Given the description of an element on the screen output the (x, y) to click on. 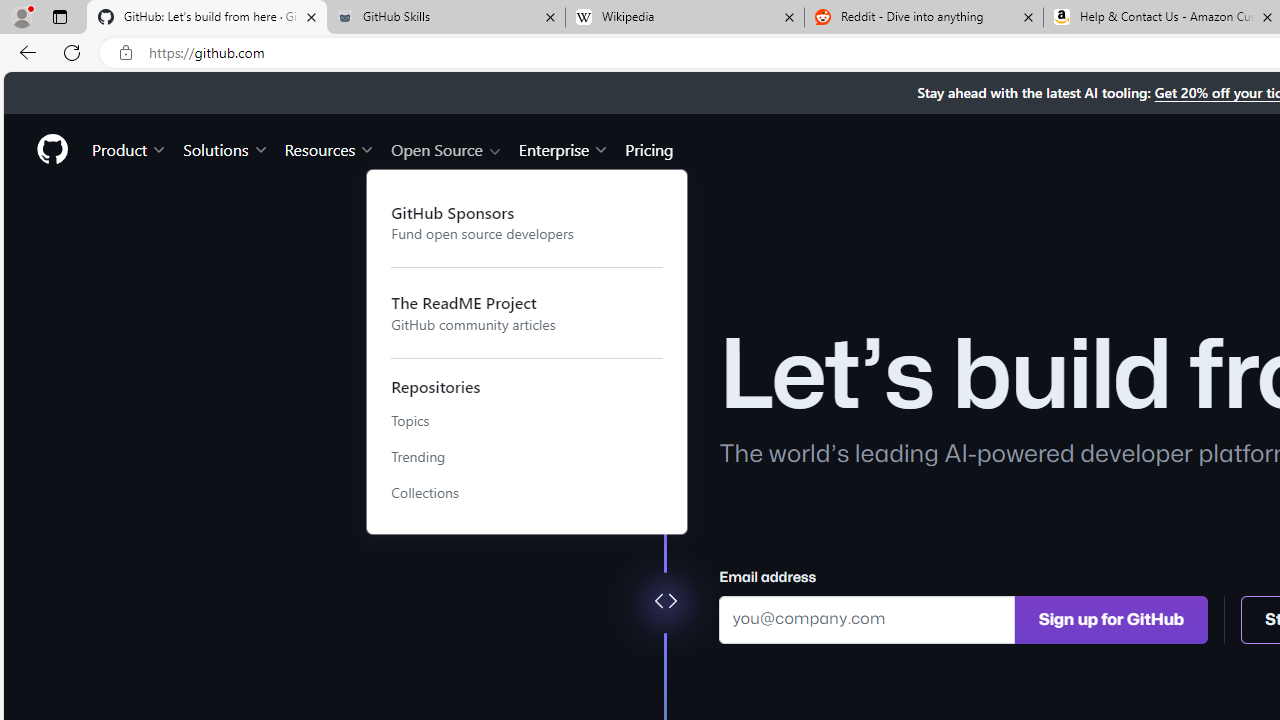
Product (130, 148)
Solutions (225, 148)
Product (130, 148)
